Given the description of an element on the screen output the (x, y) to click on. 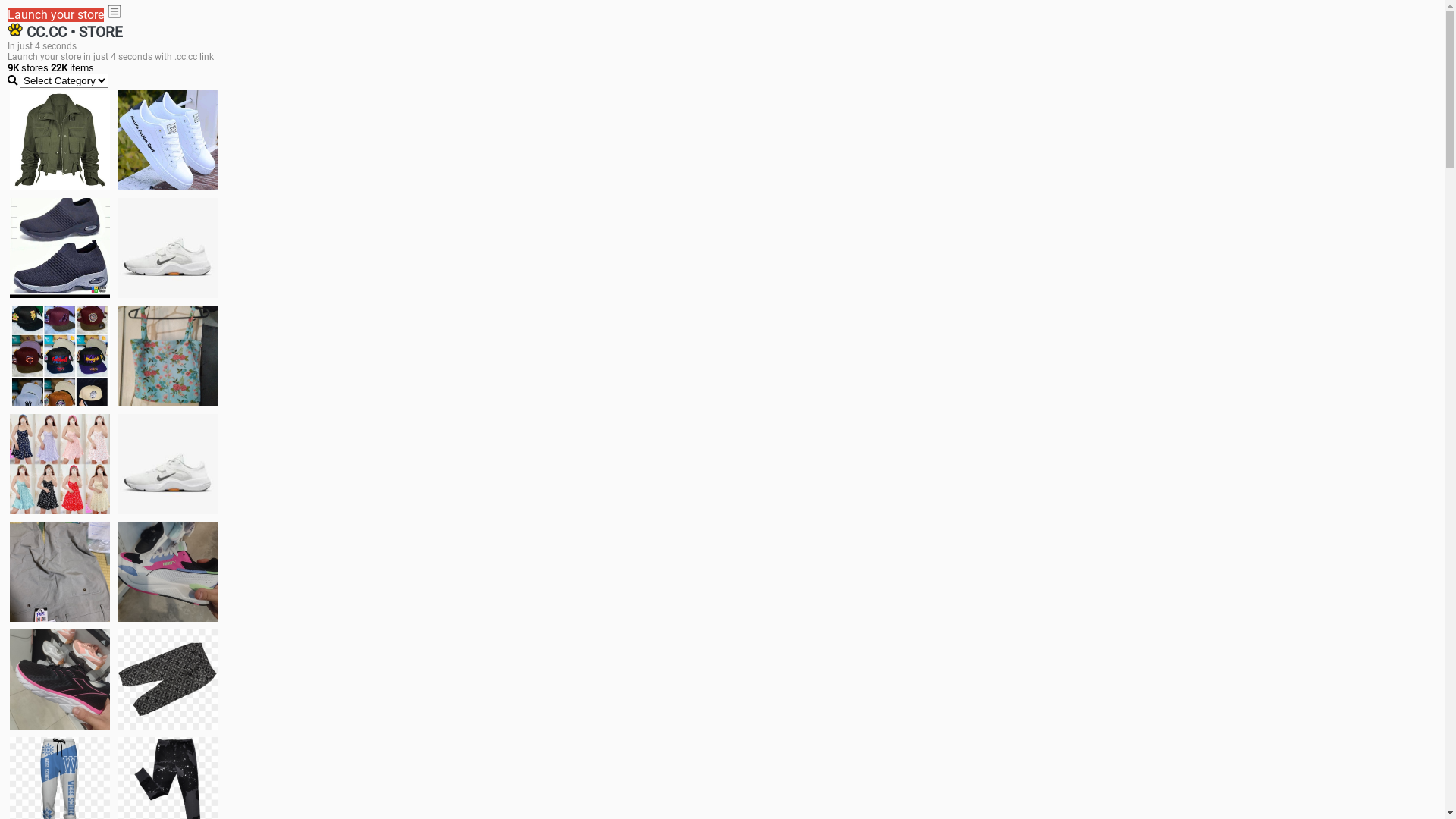
white shoes Element type: hover (167, 140)
Things we need Element type: hover (59, 355)
Launch your store Element type: text (55, 14)
Shoes for boys Element type: hover (167, 247)
Shoes Element type: hover (167, 464)
Dress/square nect top Element type: hover (59, 464)
shoes for boys Element type: hover (59, 247)
Short pant Element type: hover (167, 679)
Zapatillas Element type: hover (59, 679)
Ukay cloth Element type: hover (167, 356)
jacket Element type: hover (59, 140)
Zapatillas pumas Element type: hover (167, 571)
